Given the description of an element on the screen output the (x, y) to click on. 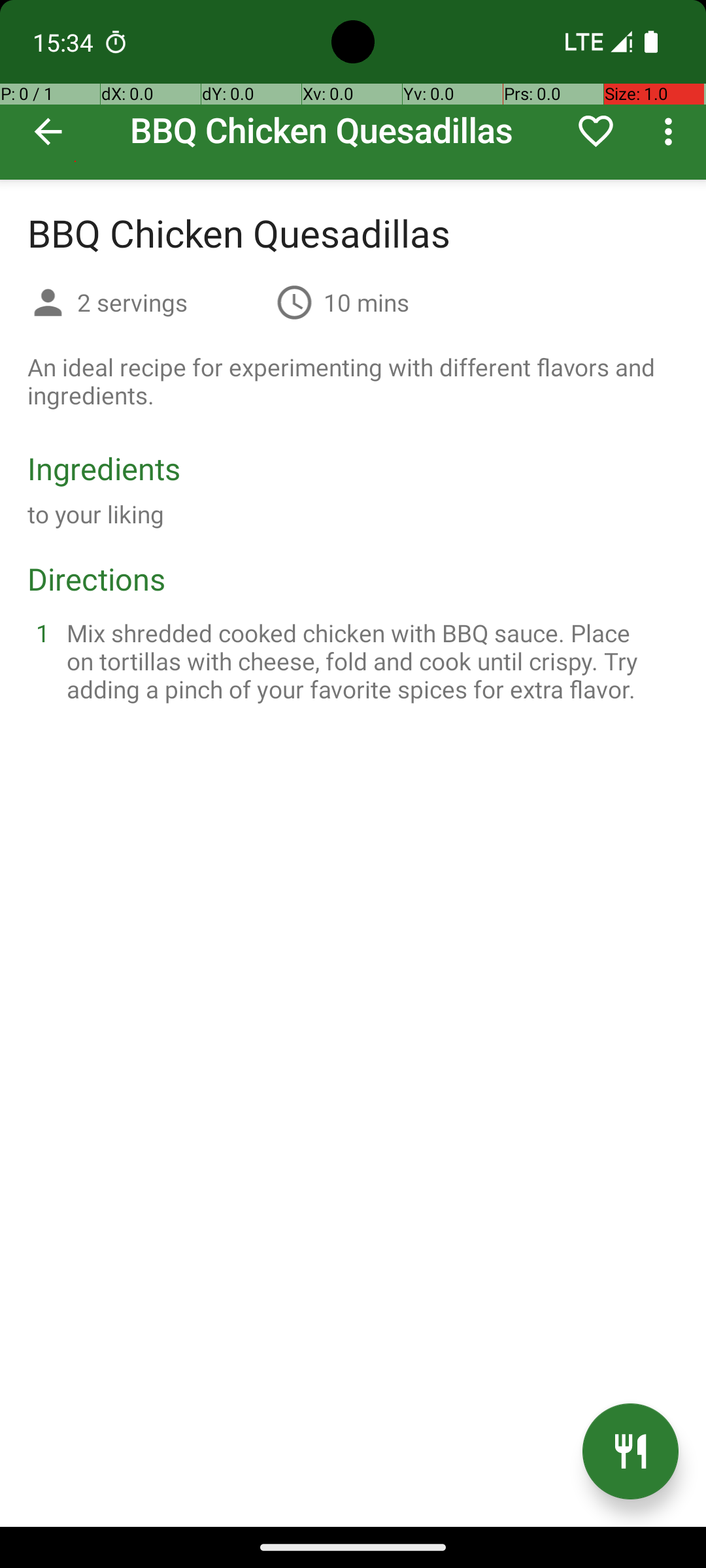
Mix shredded cooked chicken with BBQ sauce. Place on tortillas with cheese, fold and cook until crispy. Try adding a pinch of your favorite spices for extra flavor. Element type: android.widget.TextView (368, 660)
